Given the description of an element on the screen output the (x, y) to click on. 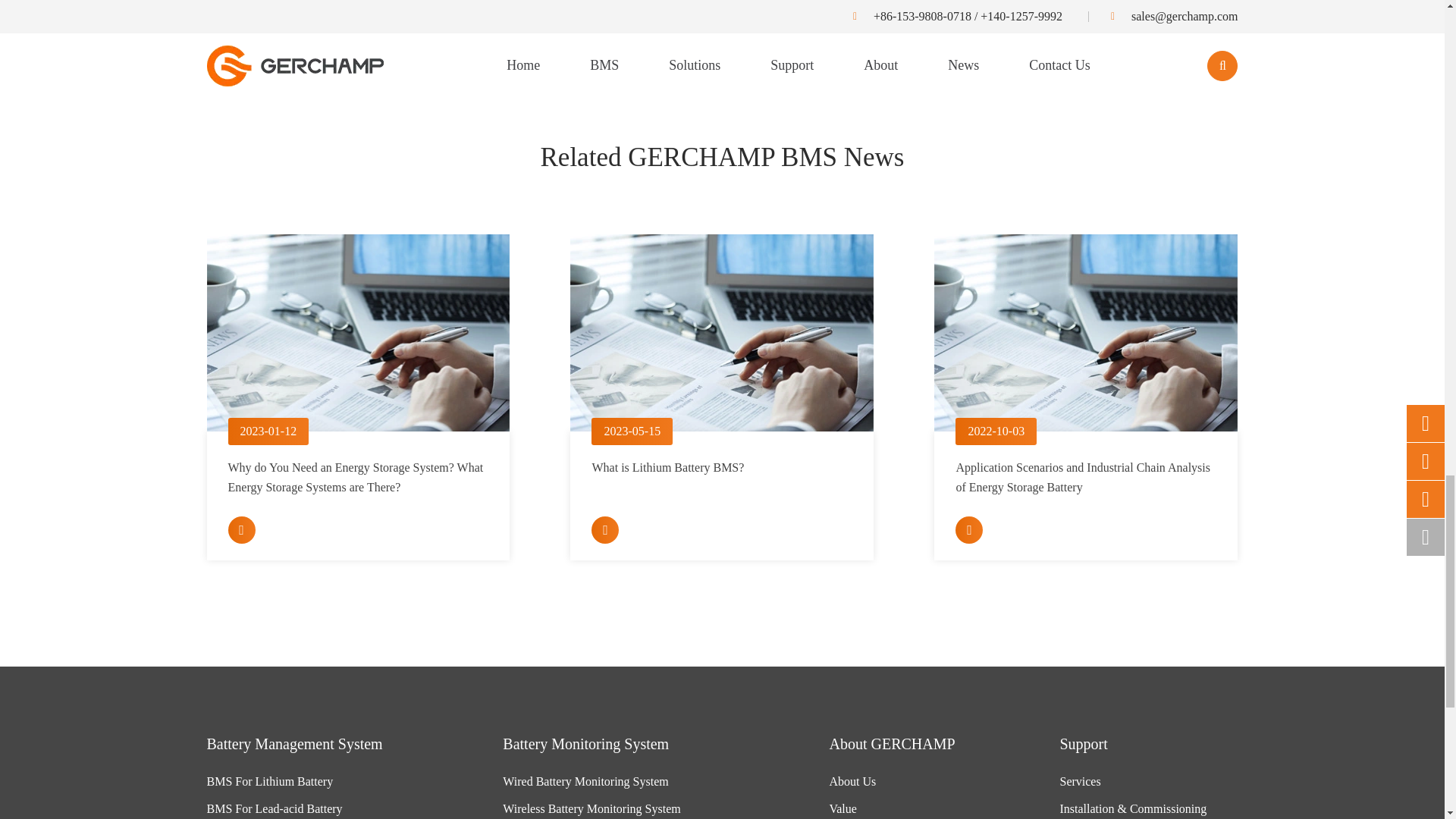
What is Lithium Battery BMS? (721, 332)
